Given the description of an element on the screen output the (x, y) to click on. 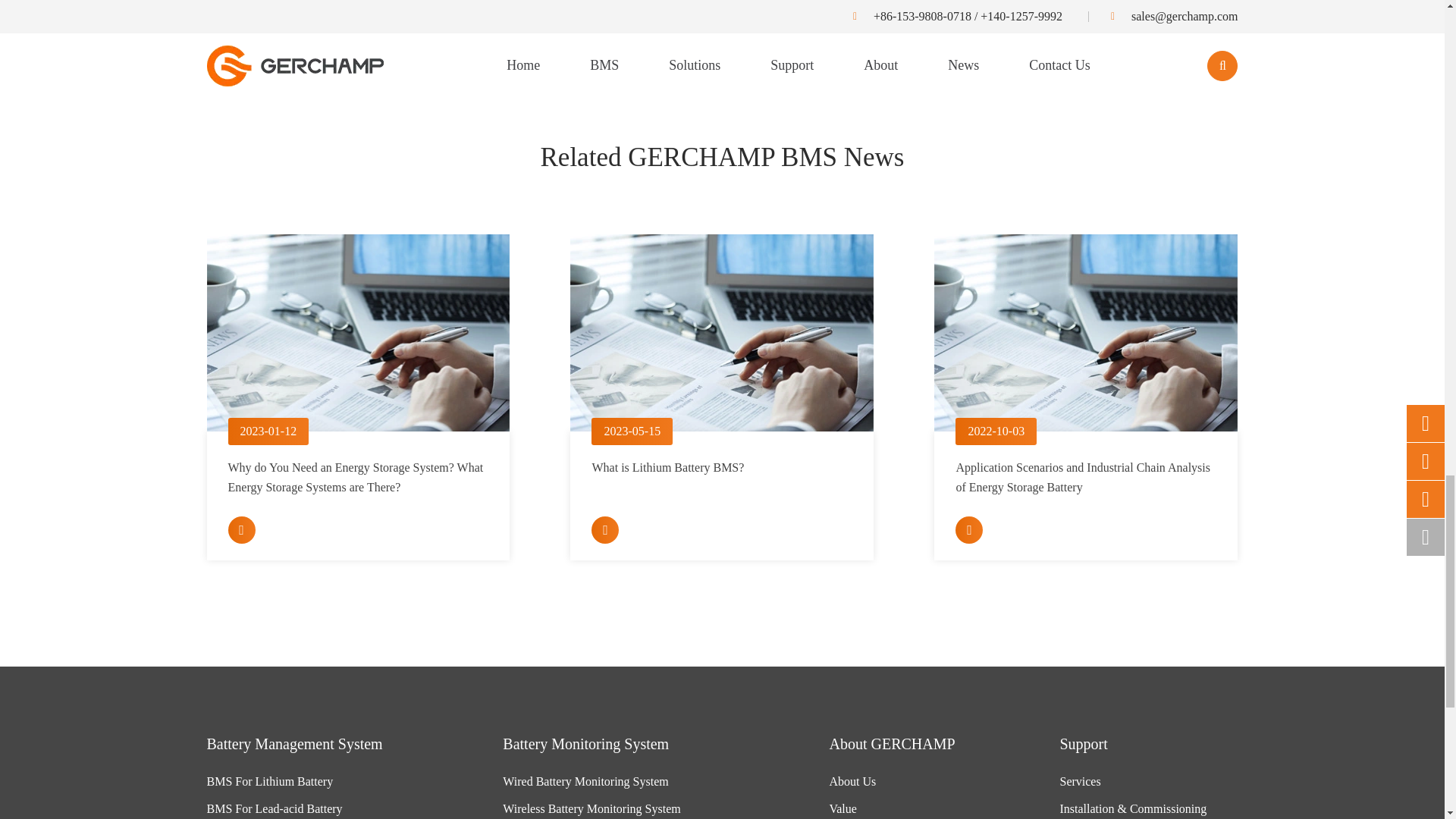
What is Lithium Battery BMS? (721, 332)
